Given the description of an element on the screen output the (x, y) to click on. 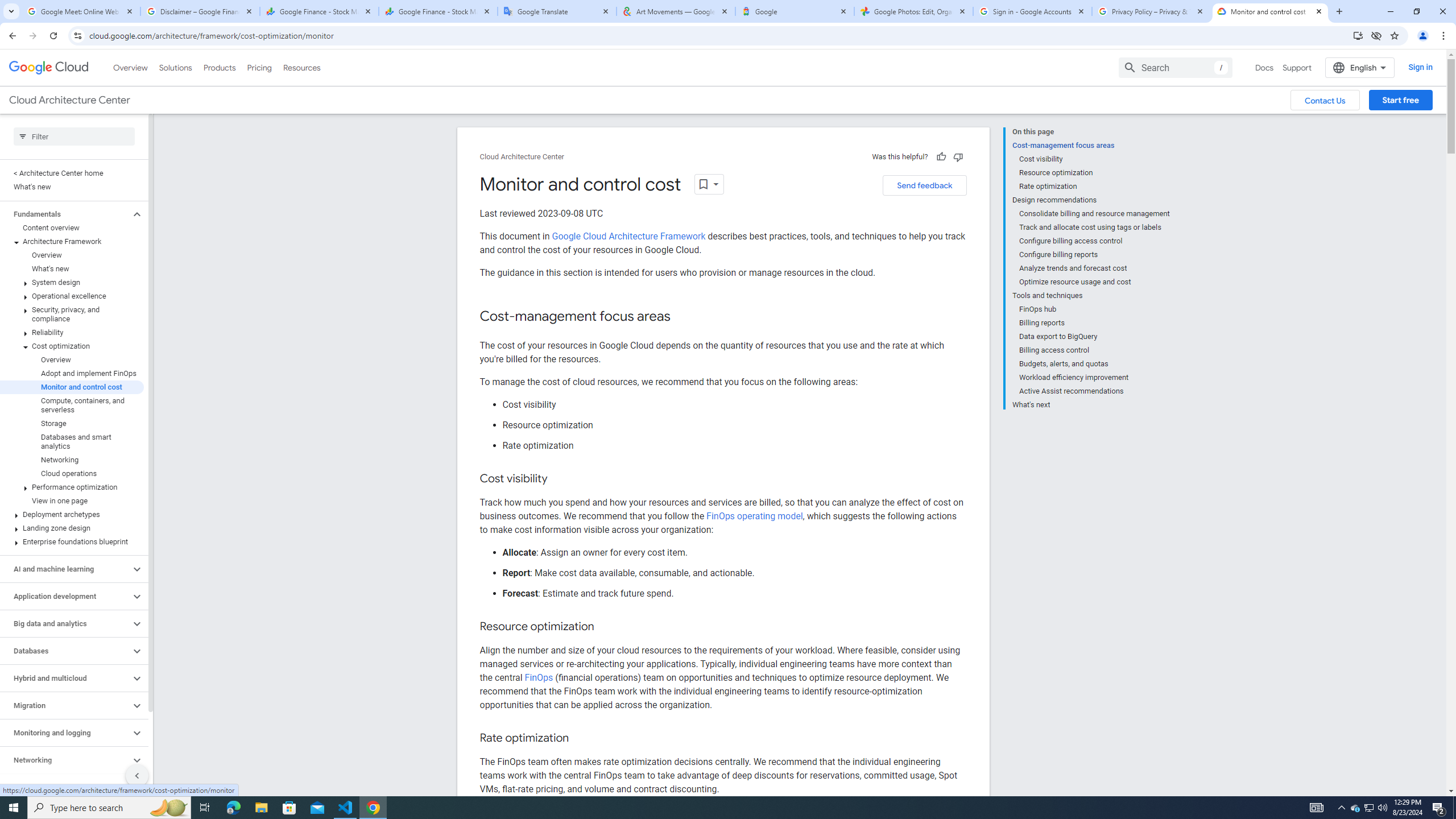
Not helpful (957, 156)
Support (1296, 67)
Databases and smart analytics (72, 441)
Monitor and control cost (72, 386)
Consolidate billing and resource management (1094, 213)
Cost optimization (72, 345)
Content overview (72, 228)
Networking (72, 459)
Docs, selected (1264, 67)
View in one page (72, 500)
